Given the description of an element on the screen output the (x, y) to click on. 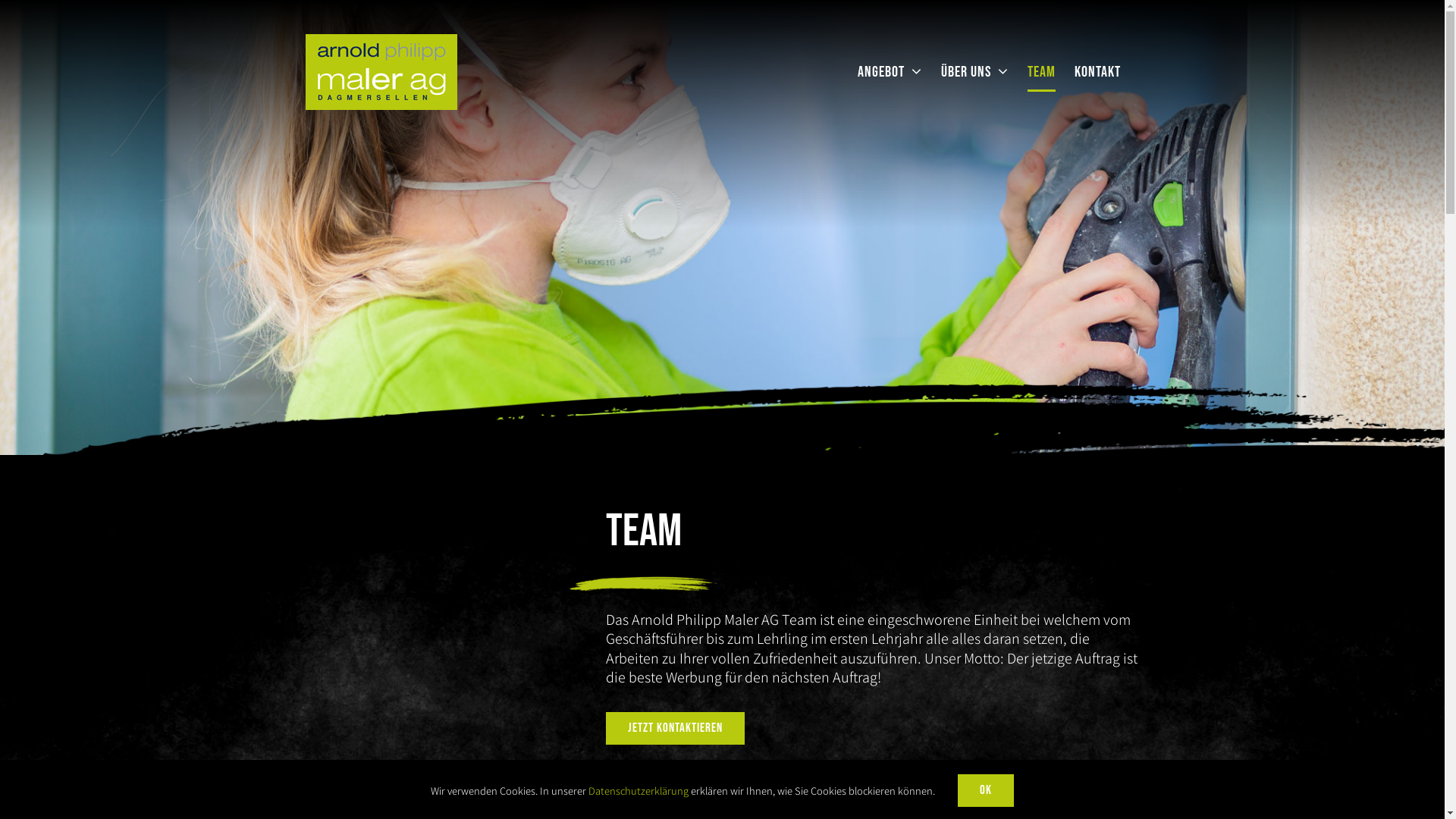
Angebot Element type: text (888, 71)
JETZT KONTAKTIEREN Element type: text (674, 728)
schweif Element type: hover (722, 435)
Kontakt Element type: text (1096, 71)
Team Element type: text (1040, 71)
Schweif-Gruen Element type: hover (642, 583)
OK Element type: text (985, 790)
